Given the description of an element on the screen output the (x, y) to click on. 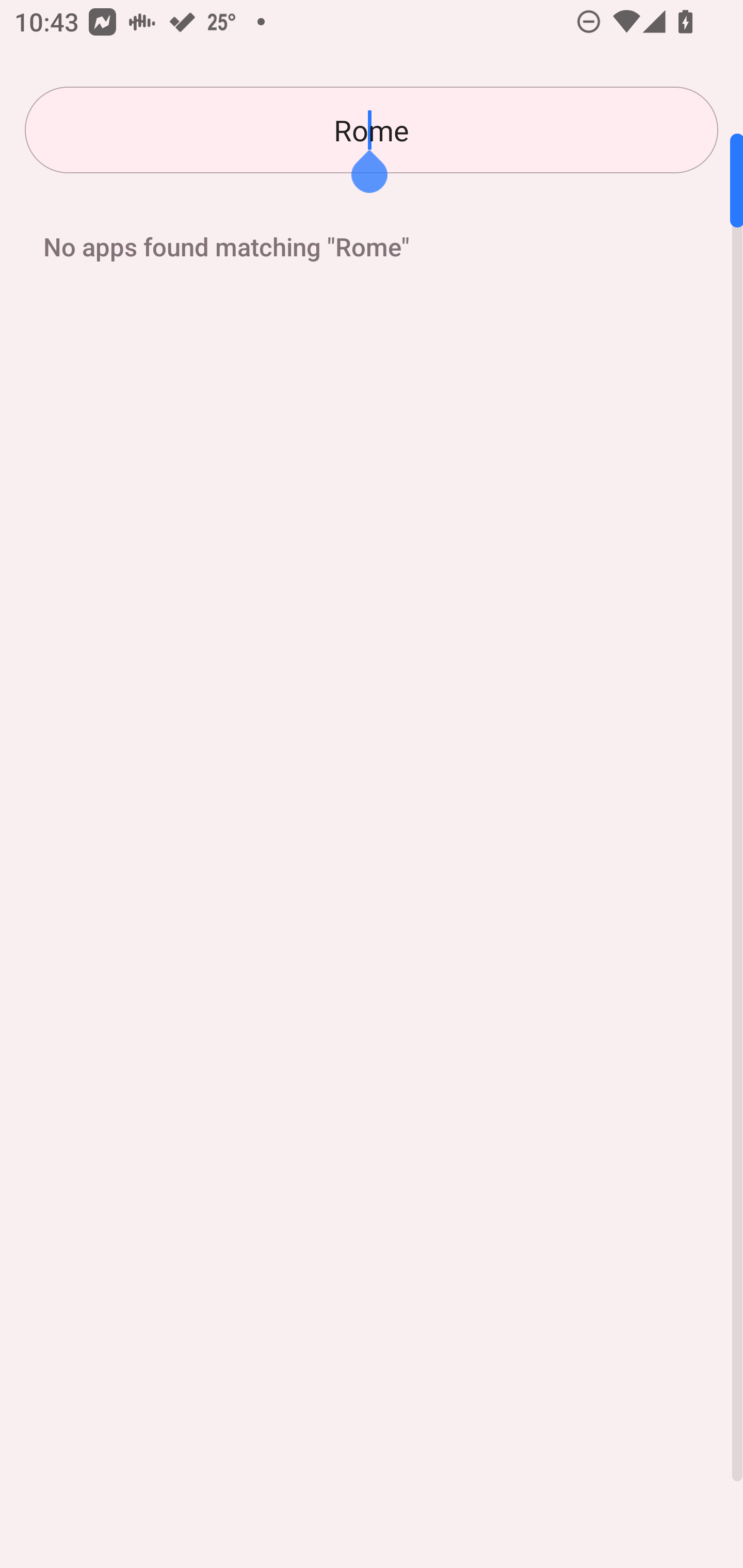
Rome (371, 130)
